Given the description of an element on the screen output the (x, y) to click on. 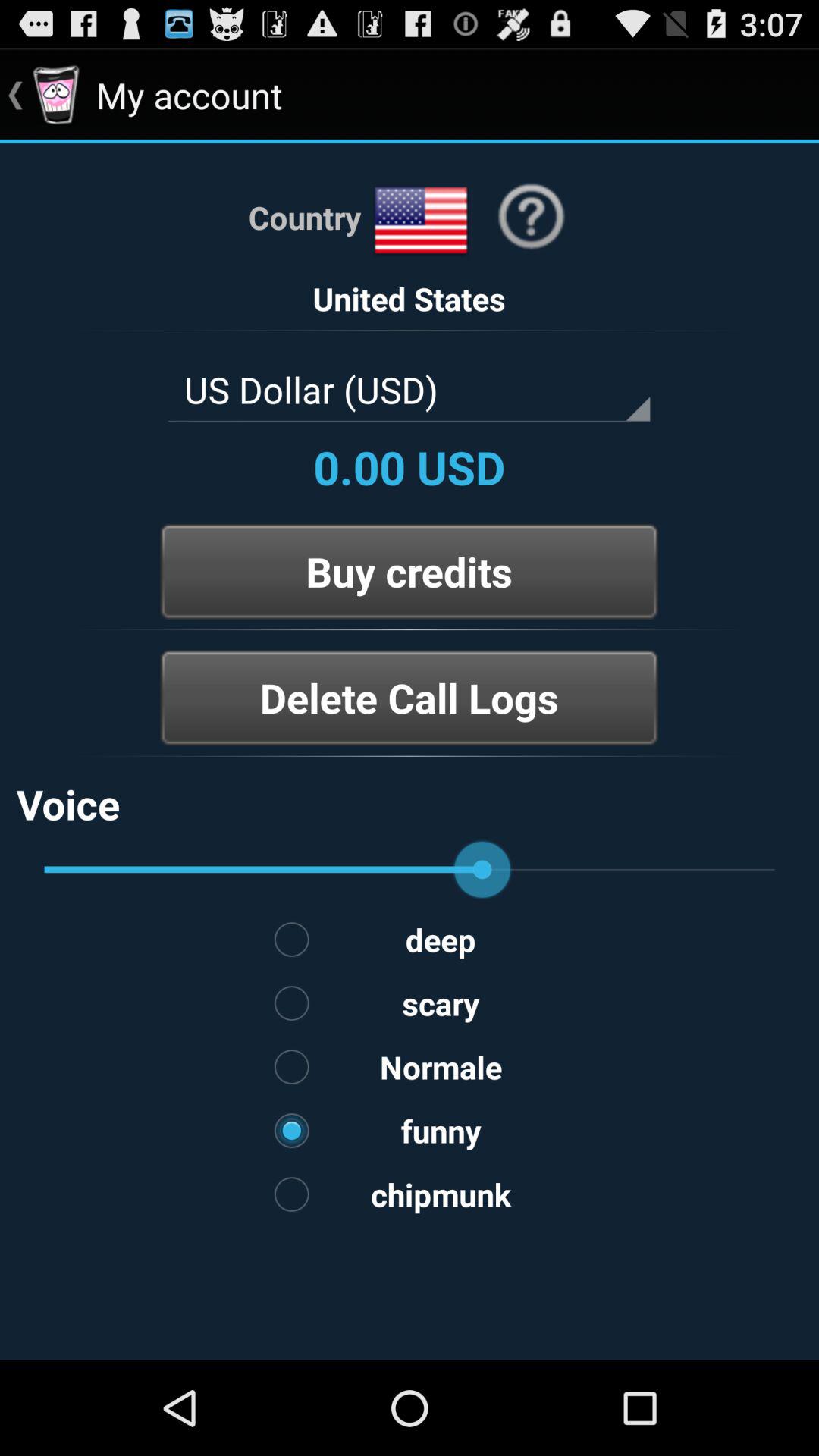
select your country (420, 221)
